Given the description of an element on the screen output the (x, y) to click on. 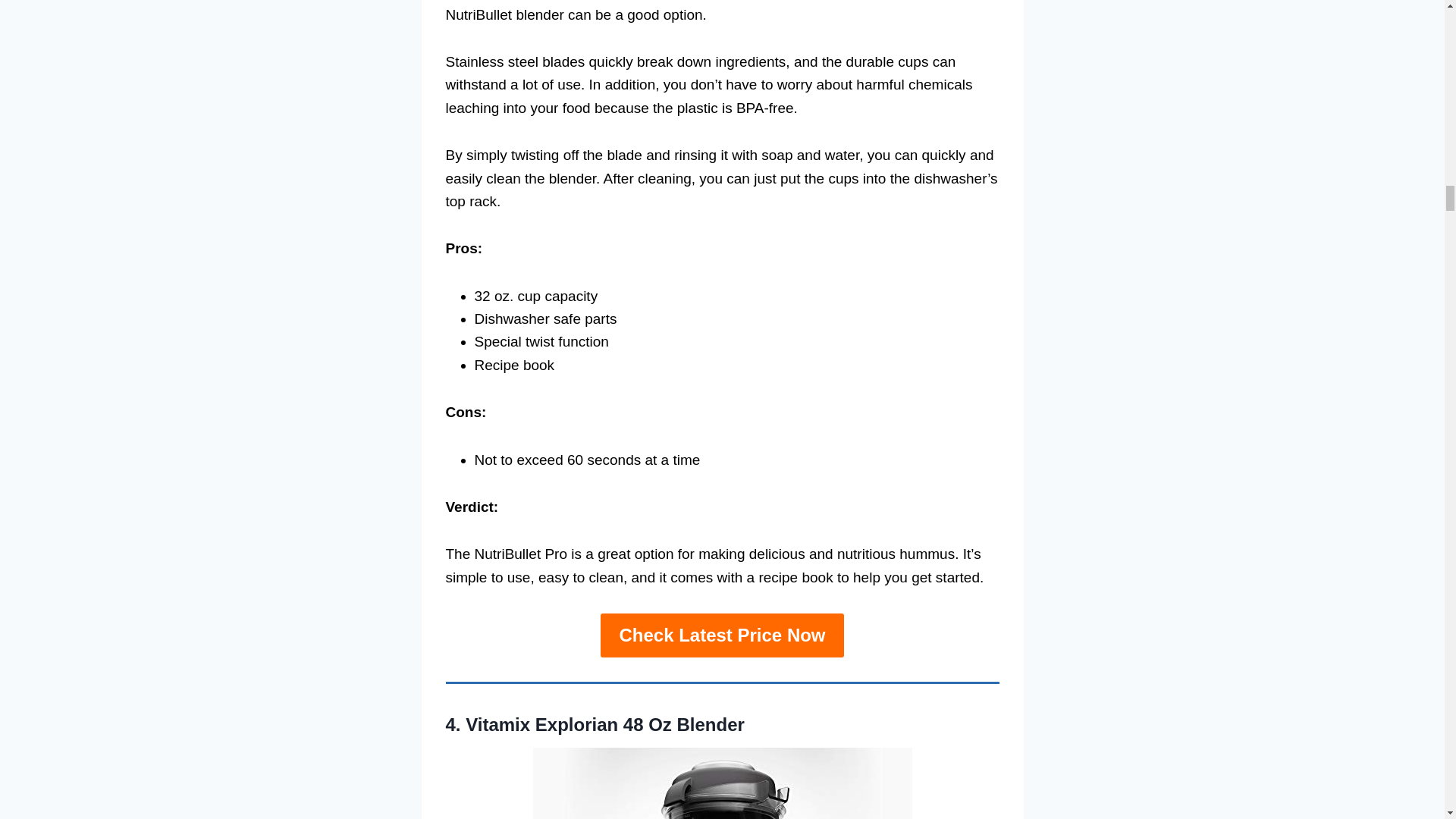
Check Latest Price Now (721, 635)
